Given the description of an element on the screen output the (x, y) to click on. 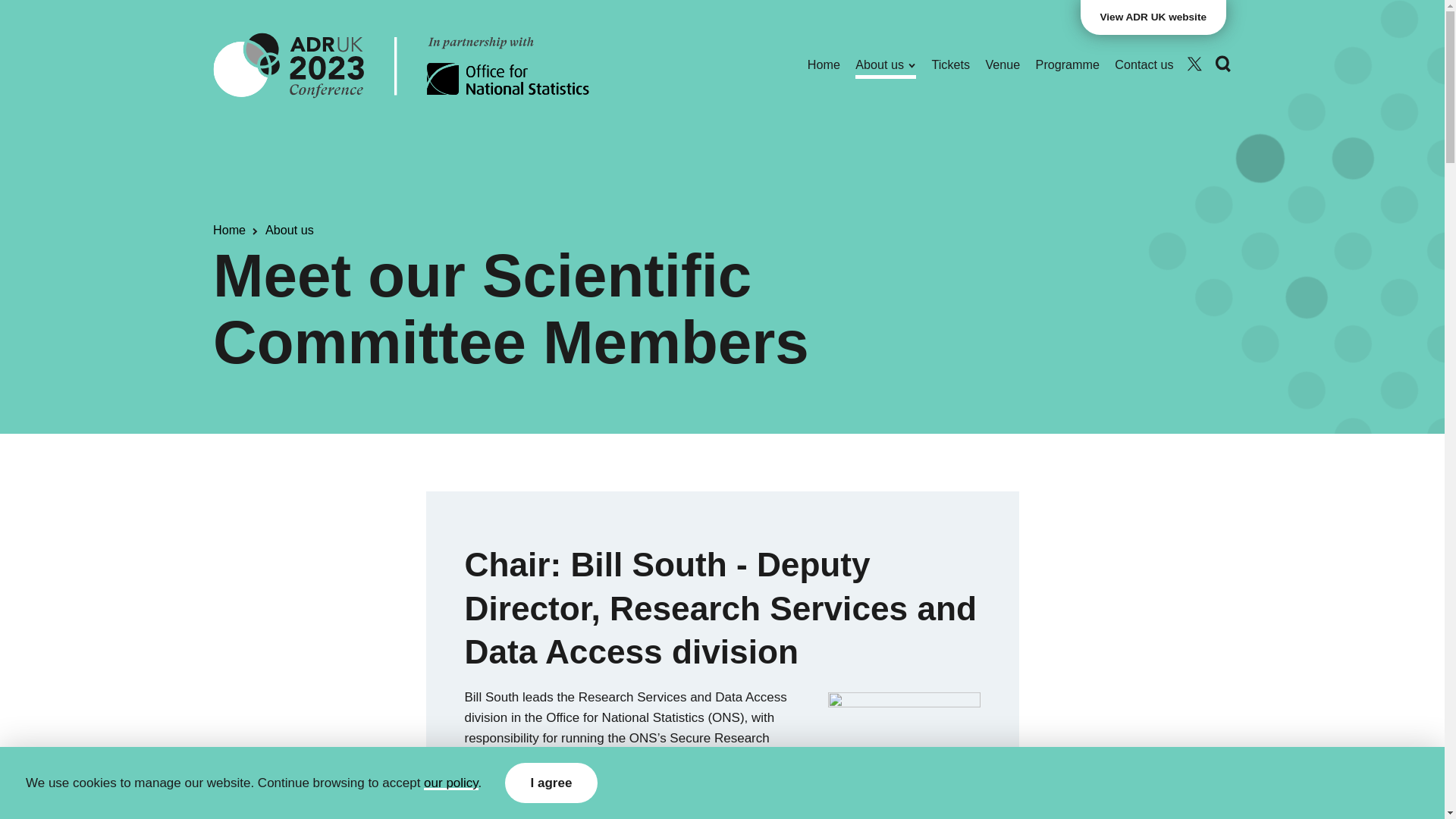
About us (885, 65)
About us (289, 230)
Home (824, 65)
ADR UK - 2023 Conference - Data driven change (400, 64)
Home (824, 65)
Tickets (951, 65)
Programme (1067, 65)
About us (885, 65)
View ADR UK website (1152, 17)
Home (229, 230)
